Given the description of an element on the screen output the (x, y) to click on. 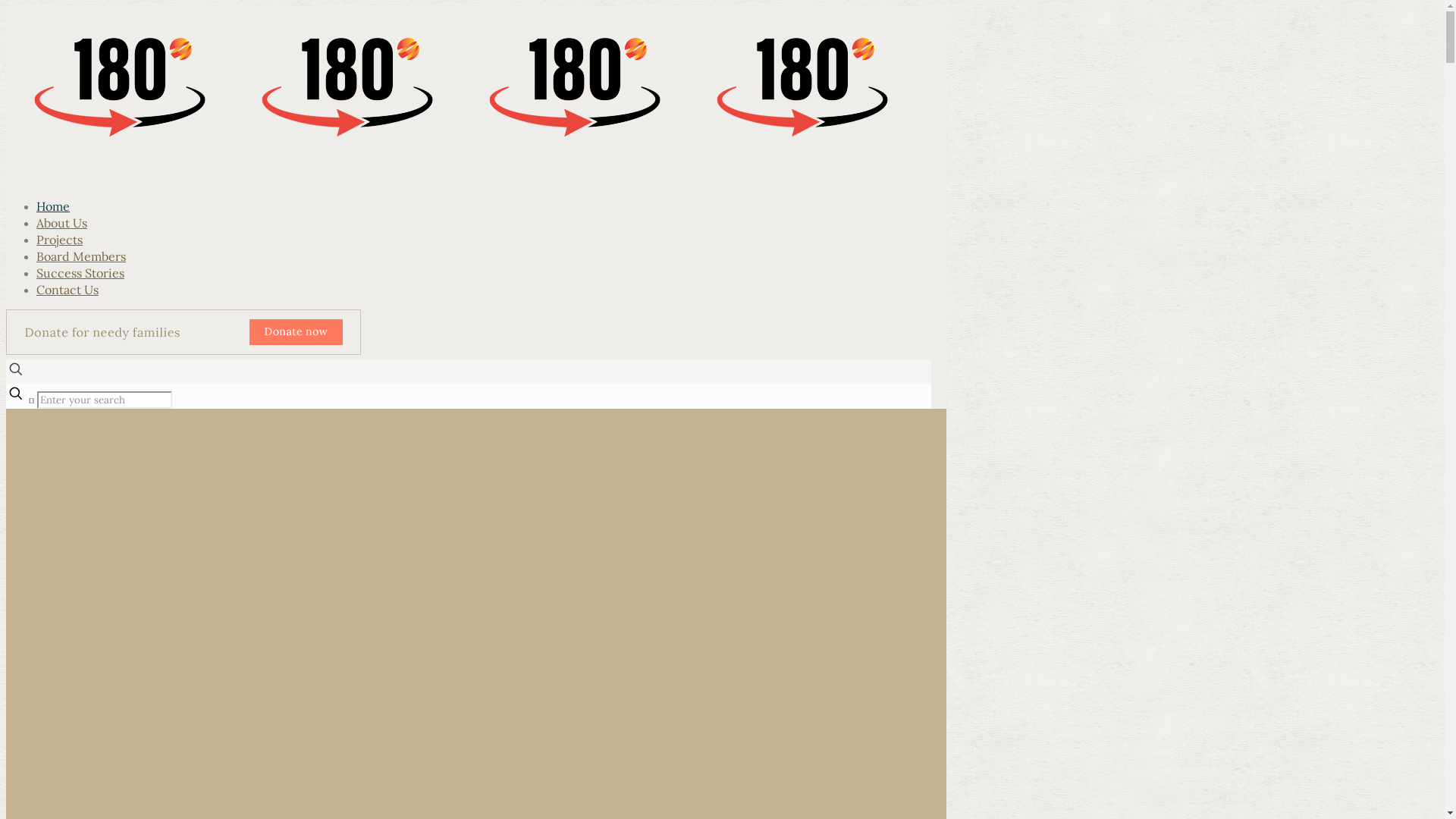
Contact Us Element type: text (67, 289)
Success Stories Element type: text (80, 272)
Board Members Element type: text (80, 255)
Home Element type: text (52, 205)
180 Degree Element type: hover (461, 153)
Projects Element type: text (59, 239)
About Us Element type: text (61, 222)
